Given the description of an element on the screen output the (x, y) to click on. 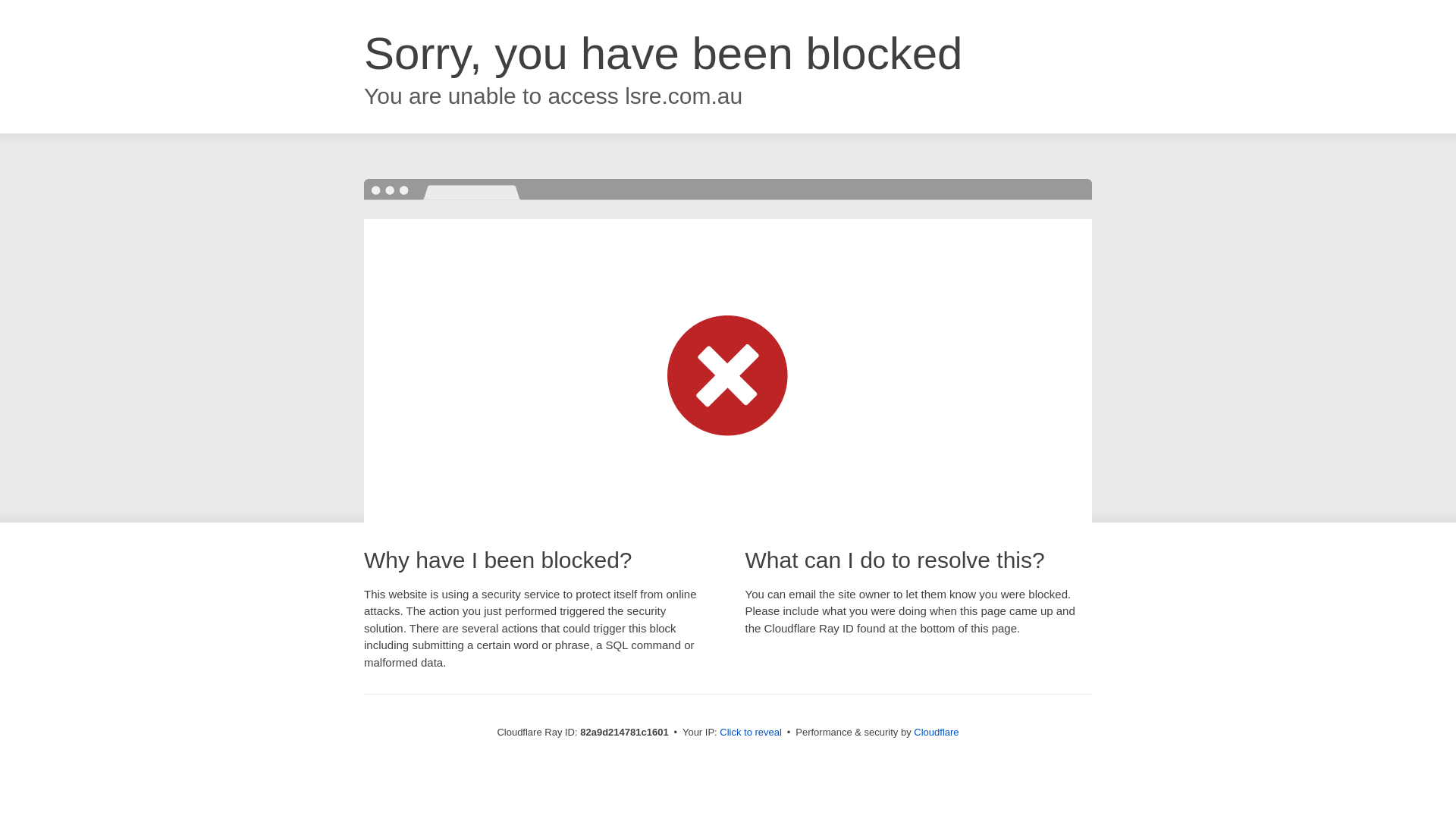
Cloudflare Element type: text (935, 731)
Click to reveal Element type: text (750, 732)
